Given the description of an element on the screen output the (x, y) to click on. 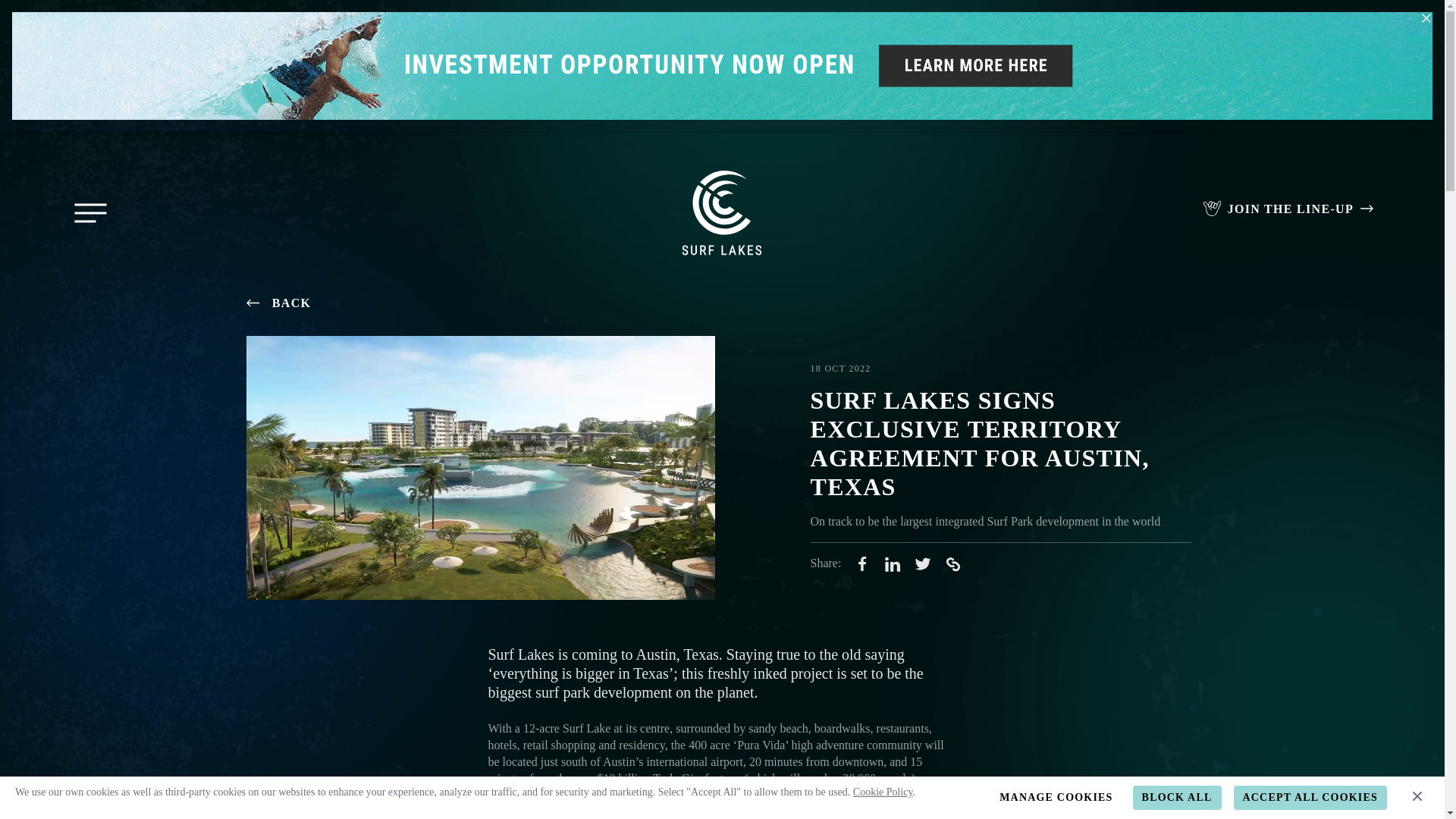
Cookie Policy (882, 791)
ACCEPT ALL COOKIES (1310, 797)
MANAGE COOKIES (1055, 797)
BLOCK ALL (1176, 797)
